Given the description of an element on the screen output the (x, y) to click on. 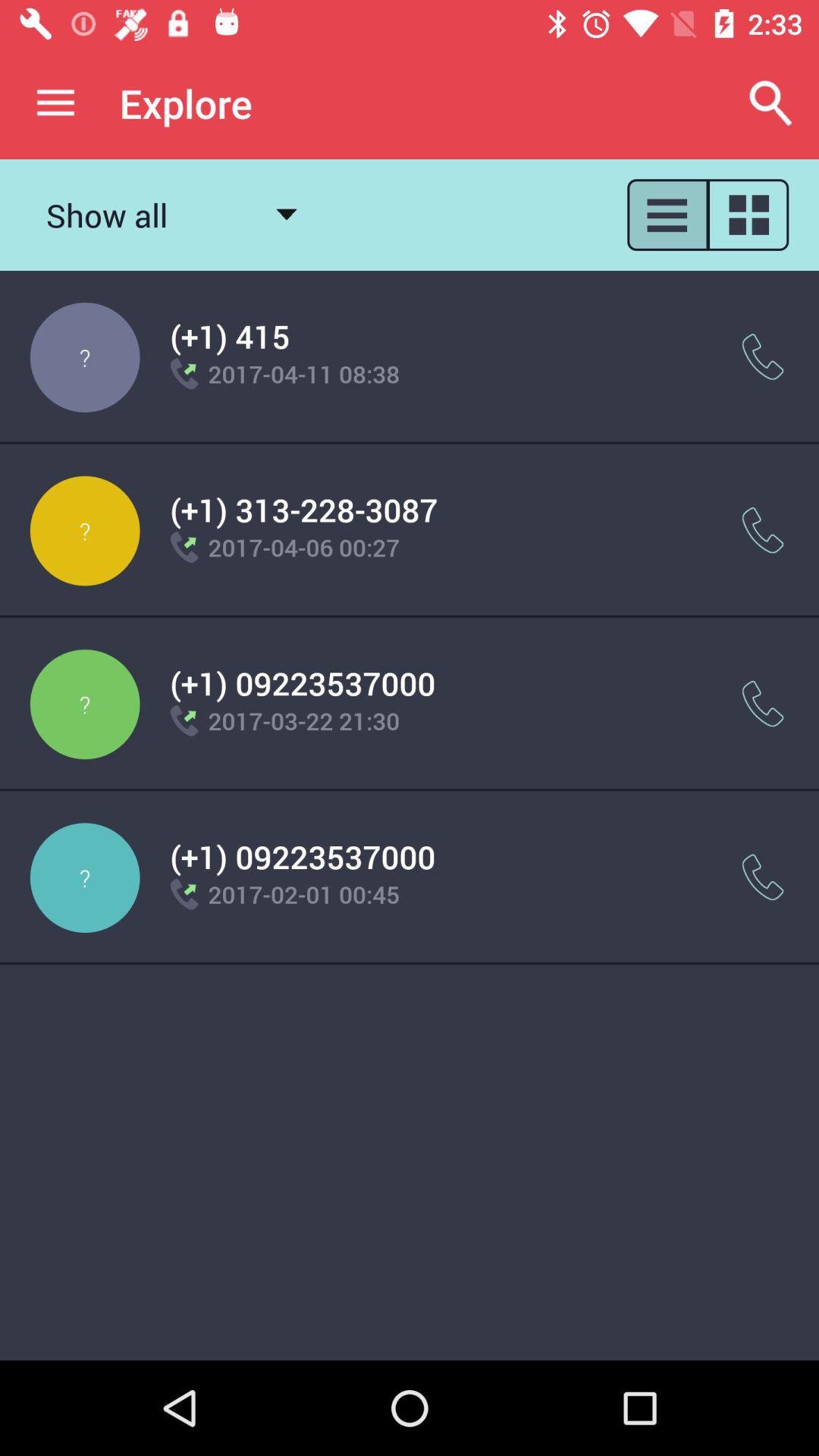
list view (666, 214)
